Given the description of an element on the screen output the (x, y) to click on. 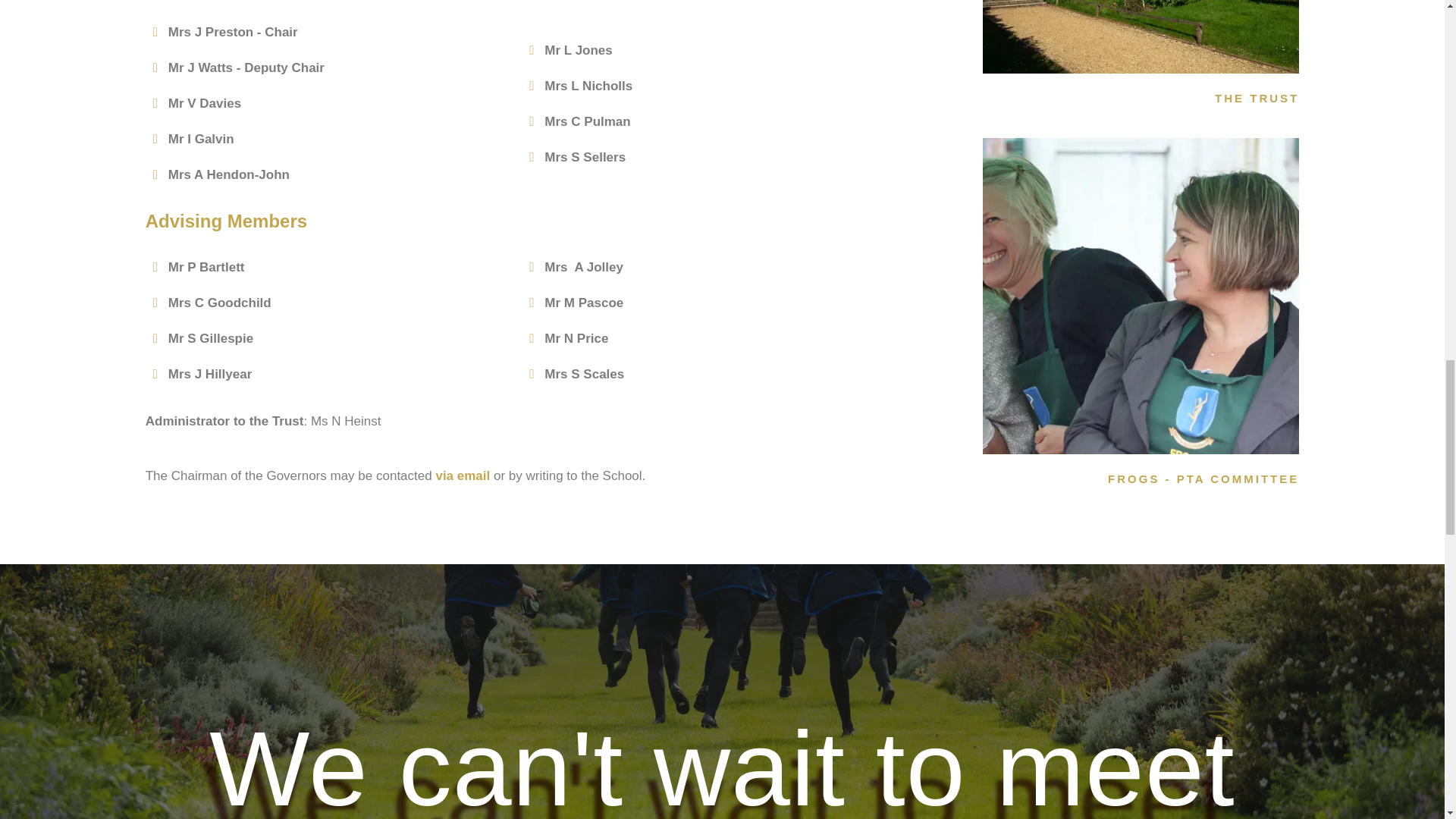
The Trust (1140, 36)
FROGS - PTA Committee (1140, 296)
